Given the description of an element on the screen output the (x, y) to click on. 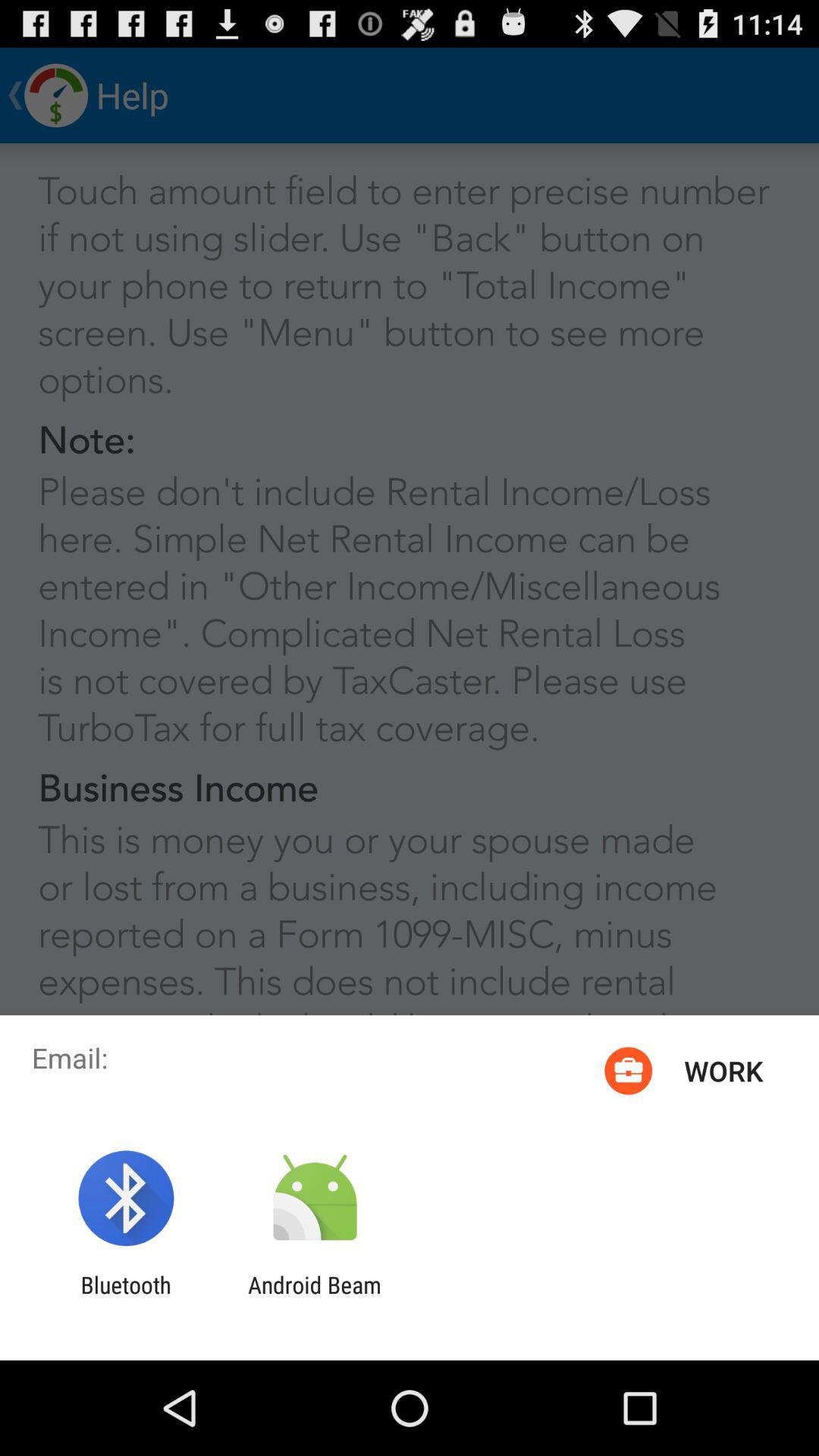
tap item next to android beam app (125, 1298)
